Given the description of an element on the screen output the (x, y) to click on. 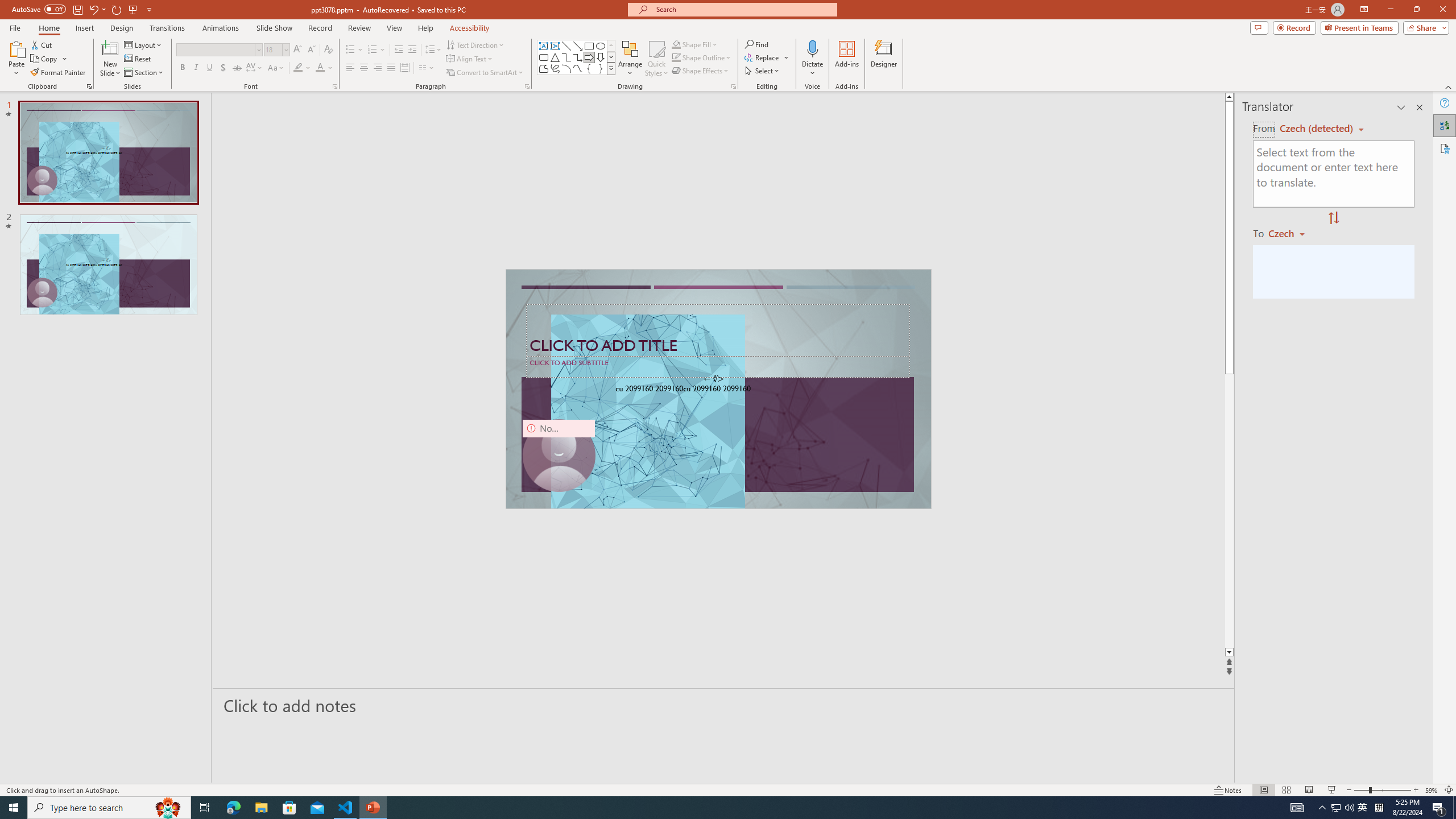
Extensions (Ctrl+Shift+X) (76, 397)
Class: actions-container (1021, 183)
Manage (76, 734)
Terminal 3 bash (995, 249)
Manage (76, 712)
Close Panel (1033, 182)
